Given the description of an element on the screen output the (x, y) to click on. 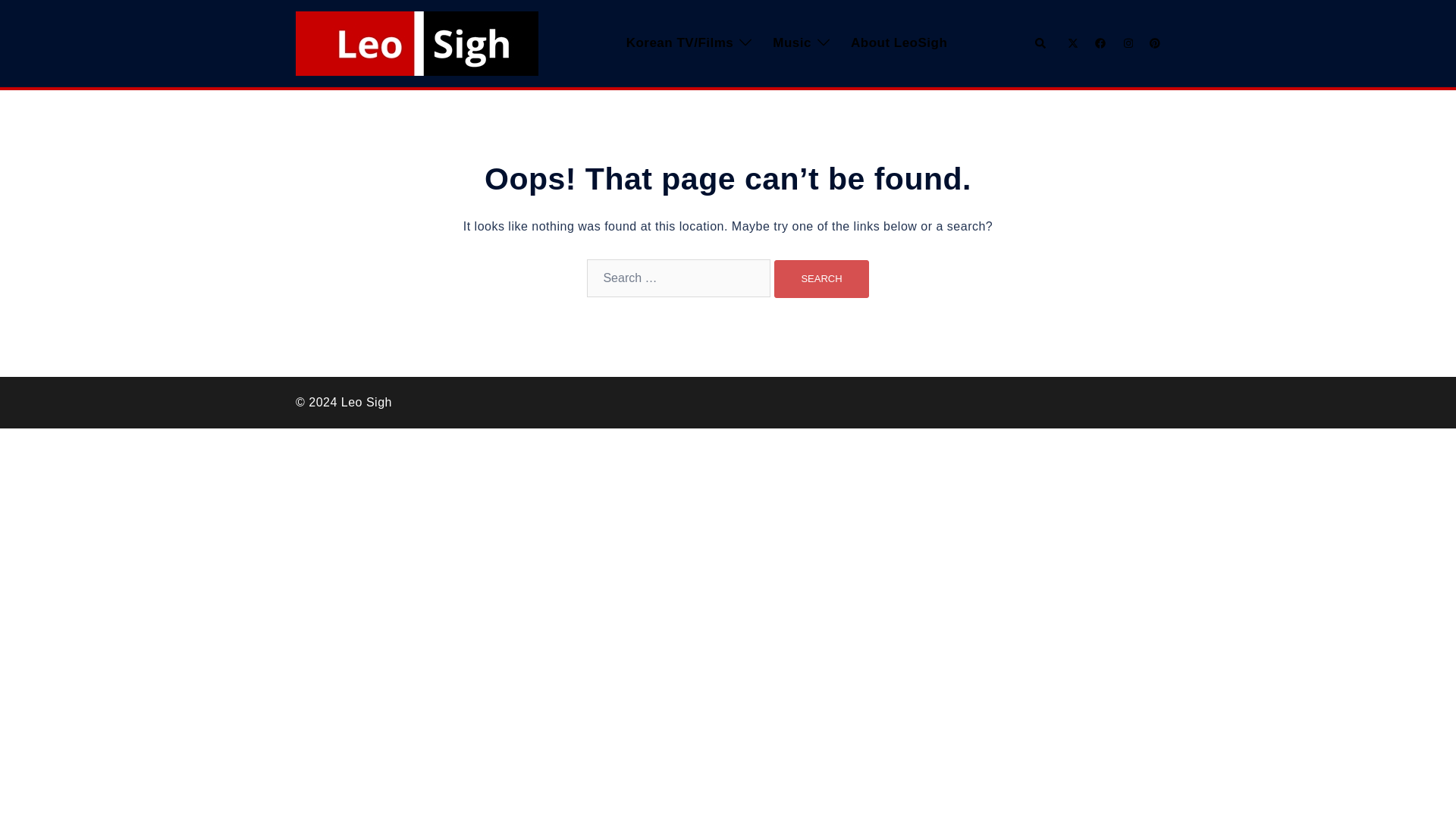
Search (820, 279)
Search (820, 279)
Leo Sigh (416, 42)
Search (820, 279)
Music (791, 43)
About LeoSigh (898, 43)
Search (1040, 42)
